Given the description of an element on the screen output the (x, y) to click on. 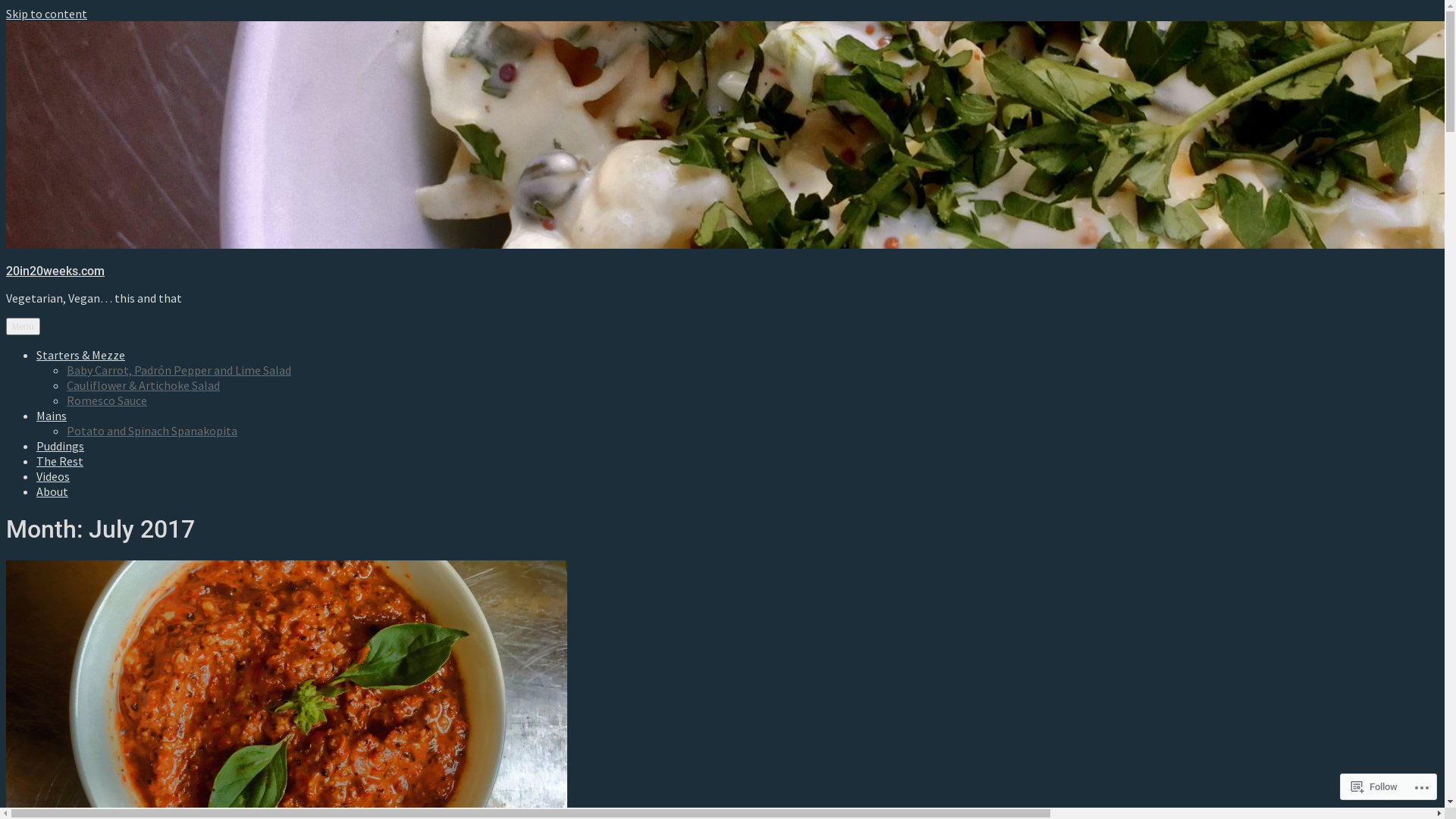
Cauliflower & Artichoke Salad Element type: text (142, 384)
About Element type: text (52, 490)
Skip to content Element type: text (46, 13)
Menu Element type: text (23, 326)
Starters & Mezze Element type: text (80, 354)
Follow Element type: text (1374, 786)
The Rest Element type: text (59, 460)
Videos Element type: text (52, 475)
20in20weeks.com Element type: text (55, 270)
Romesco Sauce Element type: text (106, 399)
Potato and Spinach Spanakopita Element type: text (151, 430)
Mains Element type: text (51, 415)
Puddings Element type: text (60, 445)
